Given the description of an element on the screen output the (x, y) to click on. 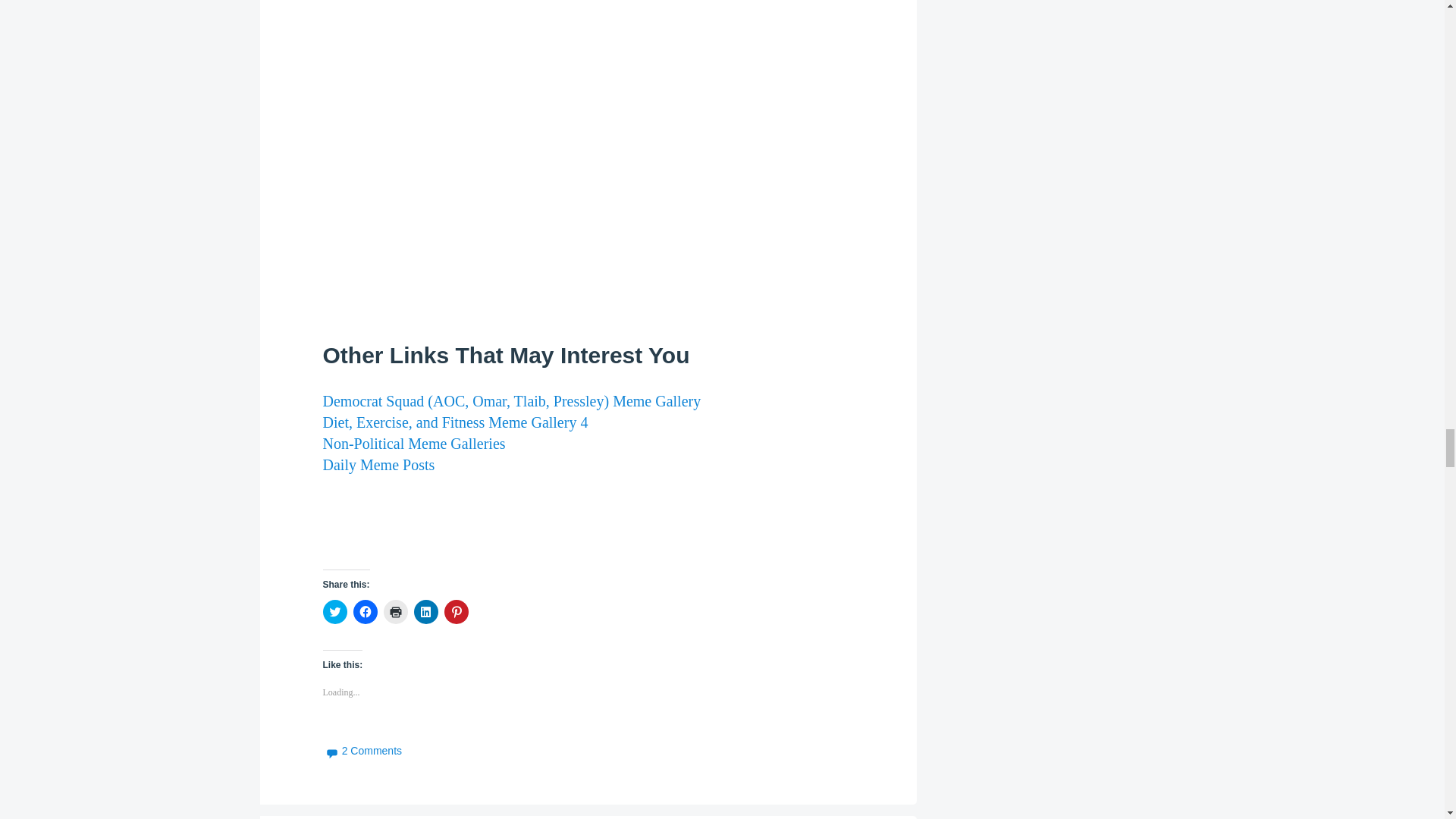
Click to share on Pinterest (456, 611)
Daily Meme Posts (379, 464)
Click to share on LinkedIn (425, 611)
Non-Political Meme Galleries (414, 443)
Click to print (395, 611)
Click to share on Facebook (365, 611)
2 Comments (363, 750)
Diet, Exercise, and Fitness Meme Gallery 4 (455, 422)
Click to share on Twitter (335, 611)
